Given the description of an element on the screen output the (x, y) to click on. 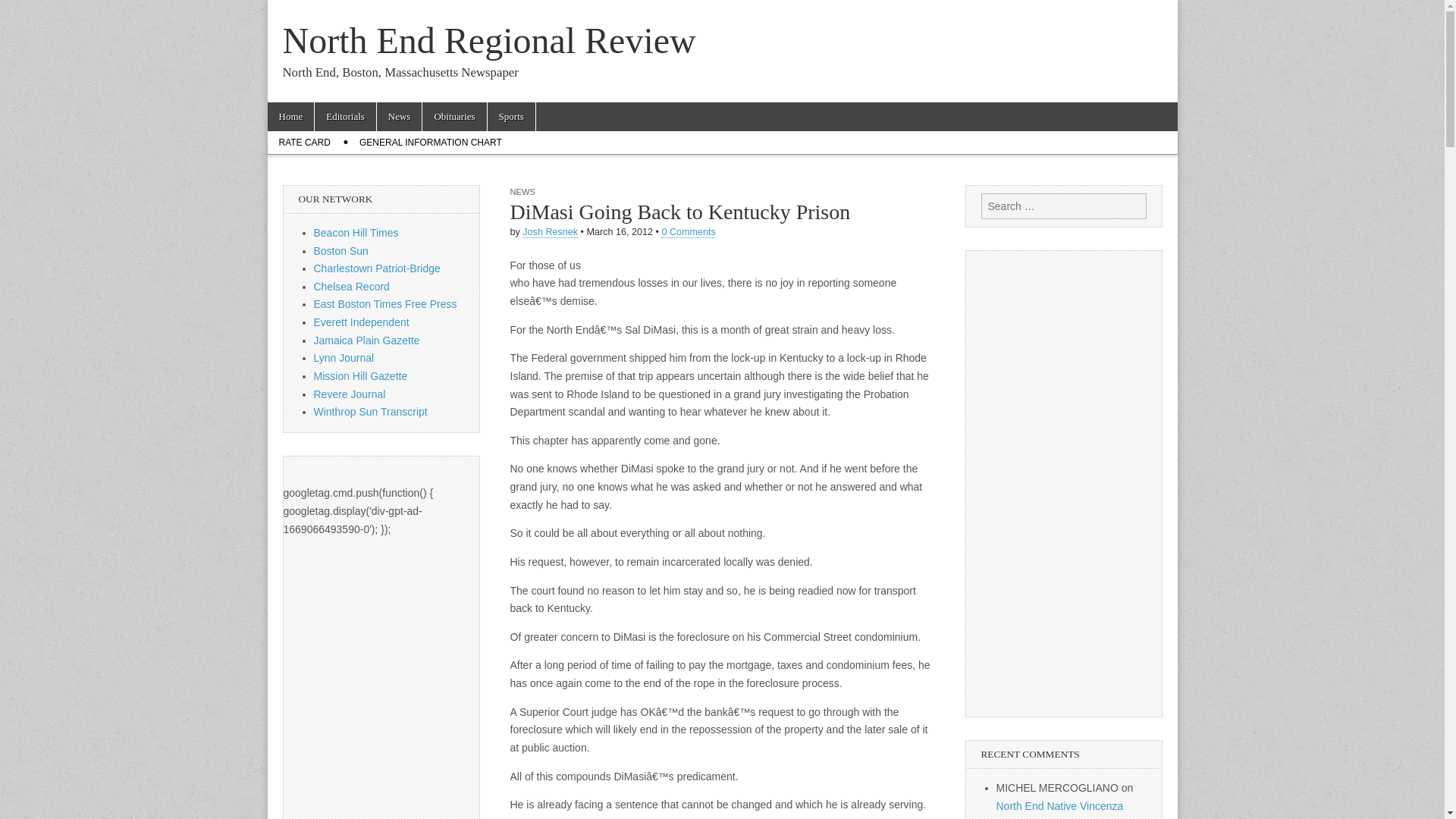
Chelsea Record (352, 286)
Editorials (344, 116)
North End Regional Review (488, 40)
0 Comments (687, 232)
Home (290, 116)
News (399, 116)
Lynn Journal (344, 357)
Winthrop Sun Transcript (371, 411)
Revere Journal (349, 394)
Obituaries (454, 116)
Boston Sun (341, 250)
NEWS (522, 191)
North End Regional Review (488, 40)
Mission Hill Gazette (360, 376)
